Given the description of an element on the screen output the (x, y) to click on. 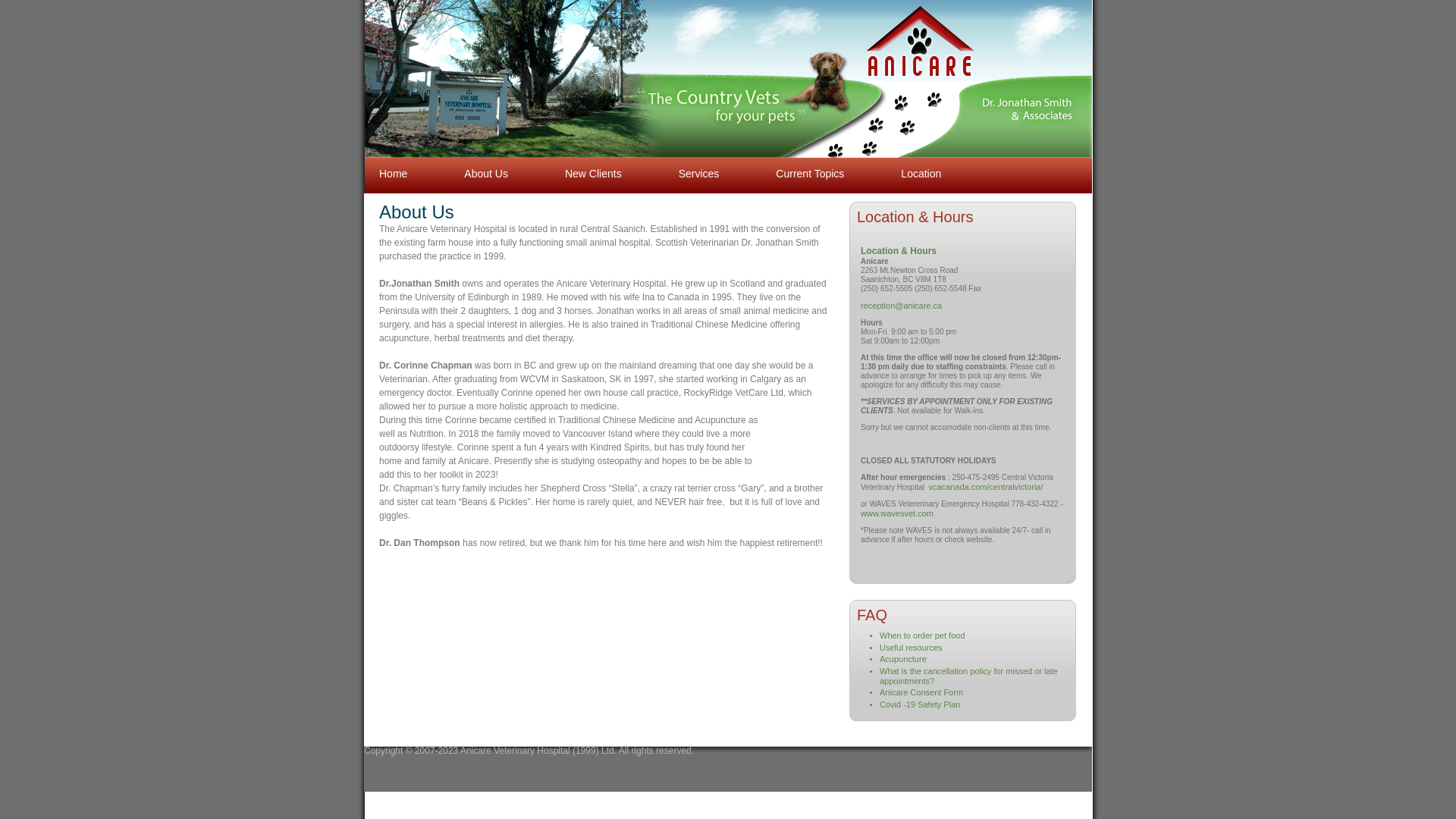
When to order pet food Element type: text (922, 635)
vcacanada.com/centralvictoria/ Element type: text (985, 486)
Covid -19 Safety Plan Element type: text (919, 703)
Location Element type: text (920, 150)
Acupuncture Element type: text (902, 658)
Anicare Veterinary Hospital Element type: text (908, 36)
New Clients Element type: text (592, 150)
About Us Element type: text (486, 150)
Current Topics Element type: text (809, 150)
Location & Hours Element type: text (898, 250)
reception@anicare.ca Element type: text (900, 305)
Useful resources Element type: text (910, 647)
Anicare Consent Form Element type: text (921, 691)
Services Element type: text (698, 150)
Home Element type: text (393, 150)
www.wavesvet.com  Element type: text (897, 512)
